Given the description of an element on the screen output the (x, y) to click on. 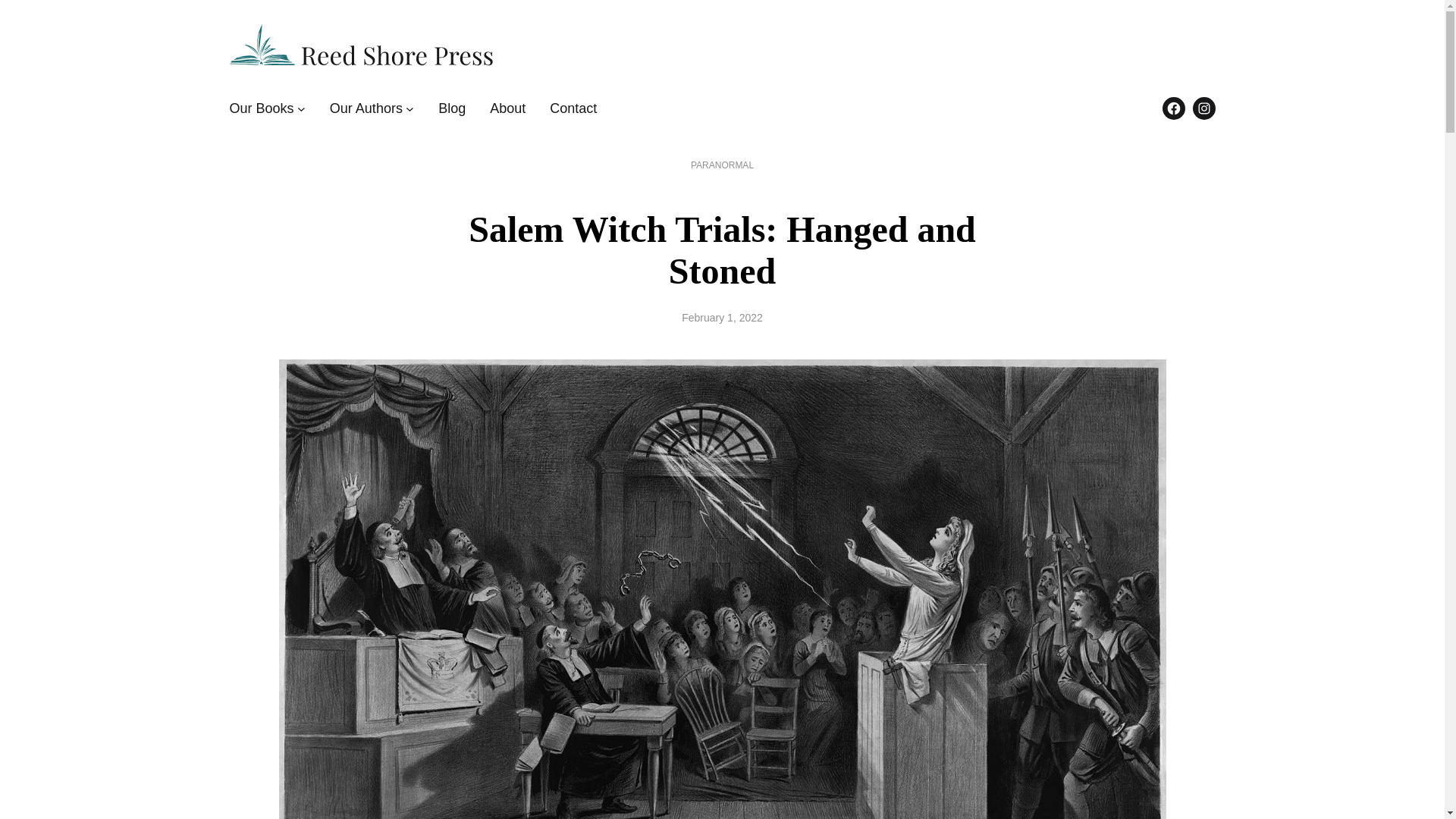
Contact (573, 108)
Blog (451, 108)
Facebook (1173, 108)
About (507, 108)
Our Books (261, 108)
Instagram (1203, 108)
Our Authors (366, 108)
PARANORMAL (722, 164)
